Given the description of an element on the screen output the (x, y) to click on. 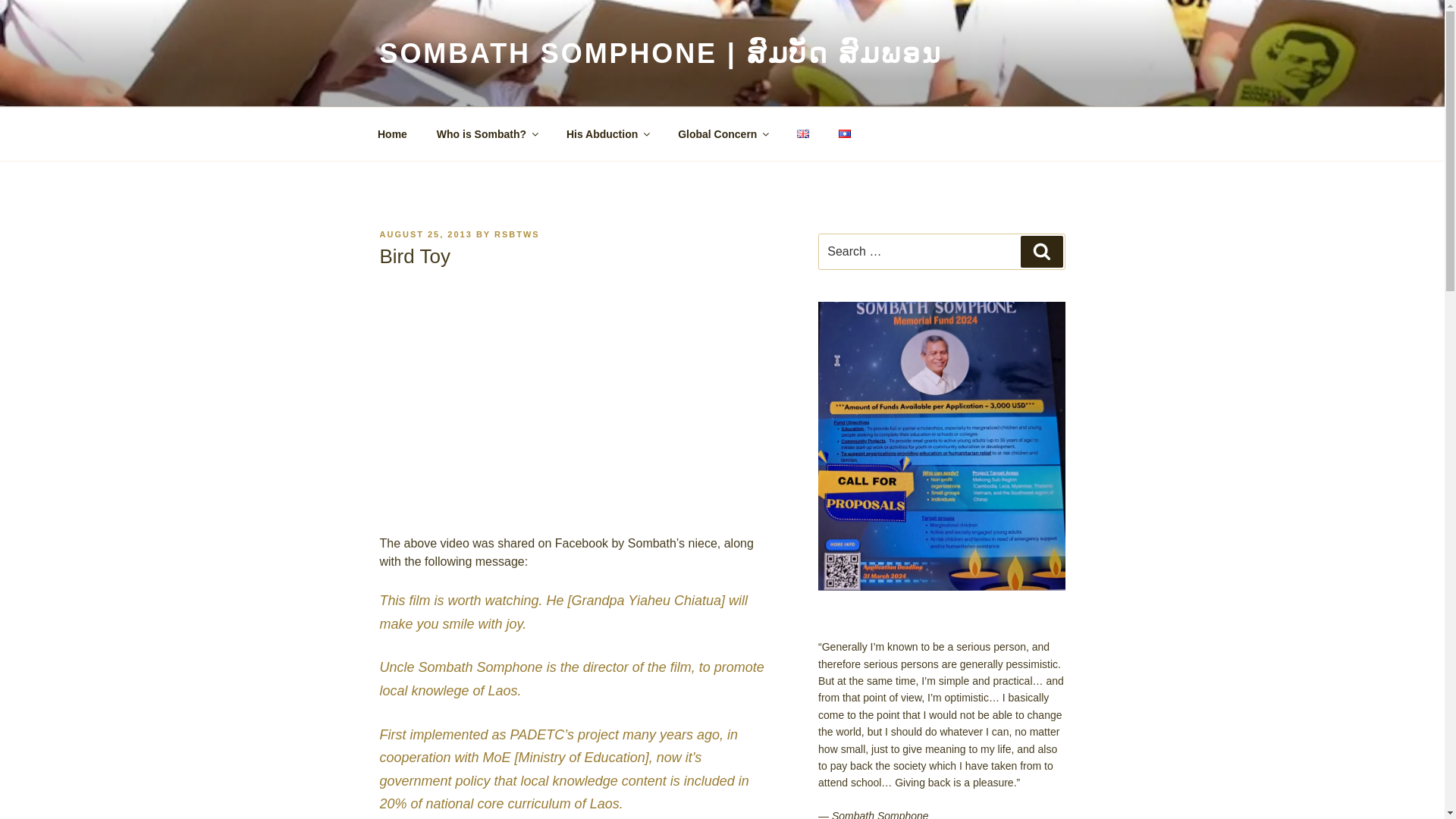
Who is Sombath? (486, 133)
His Abduction (607, 133)
AUGUST 25, 2013 (424, 234)
Search (1041, 251)
Bird toy (577, 399)
Home (392, 133)
RSBTWS (517, 234)
Global Concern (722, 133)
